Given the description of an element on the screen output the (x, y) to click on. 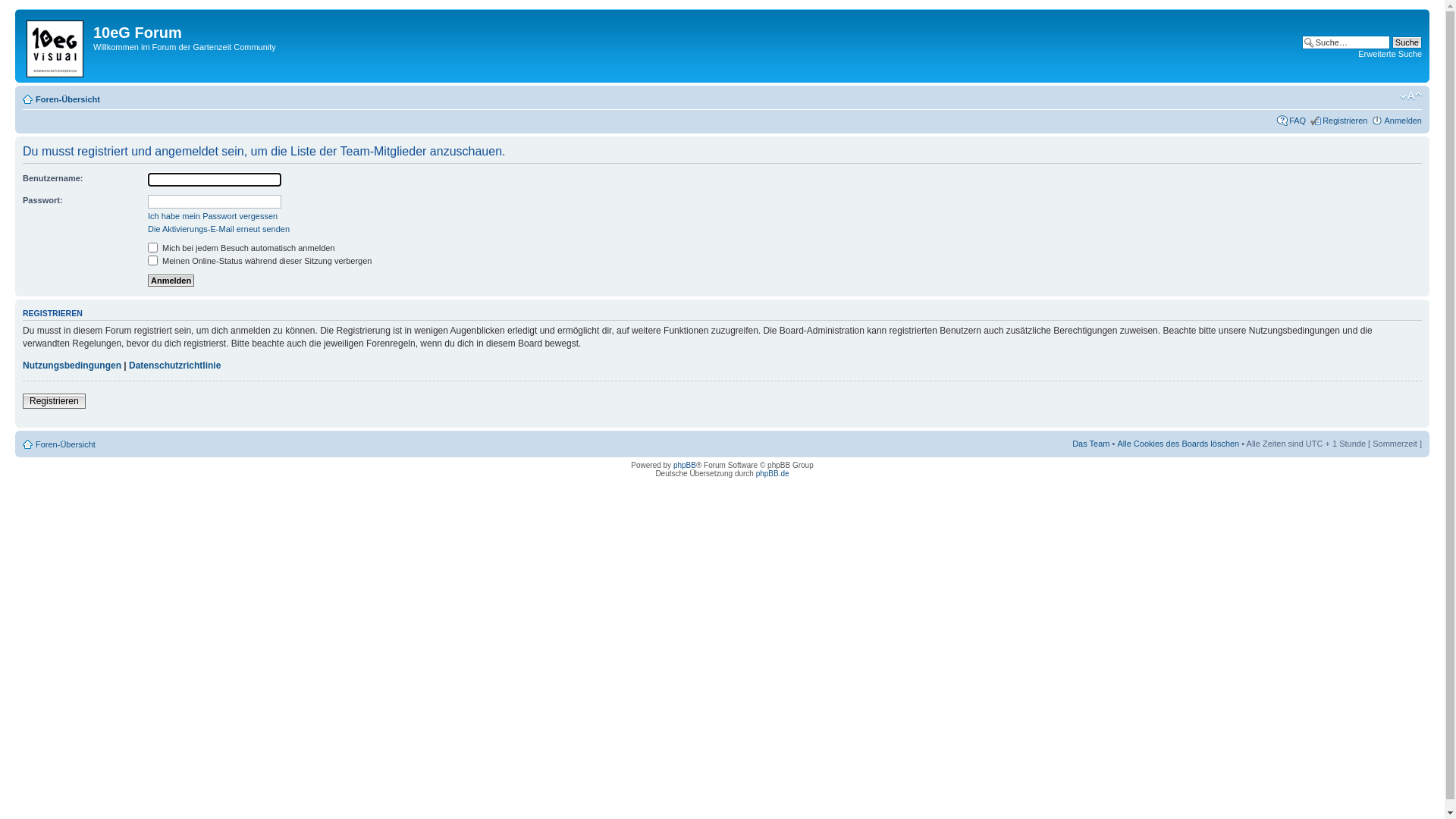
Anmelden Element type: text (1402, 120)
phpBB.de Element type: text (772, 473)
Ich habe mein Passwort vergessen Element type: text (212, 215)
Erweiterte Suche Element type: text (1389, 53)
Suche Element type: text (1406, 42)
Die Aktivierungs-E-Mail erneut senden Element type: text (218, 228)
Registrieren Element type: text (1344, 120)
Datenschutzrichtlinie Element type: text (174, 365)
FAQ Element type: text (1297, 120)
phpBB Element type: text (684, 465)
Nutzungsbedingungen Element type: text (71, 365)
Registrieren Element type: text (53, 400)
Anmelden Element type: text (170, 280)
Das Team Element type: text (1090, 443)
